Given the description of an element on the screen output the (x, y) to click on. 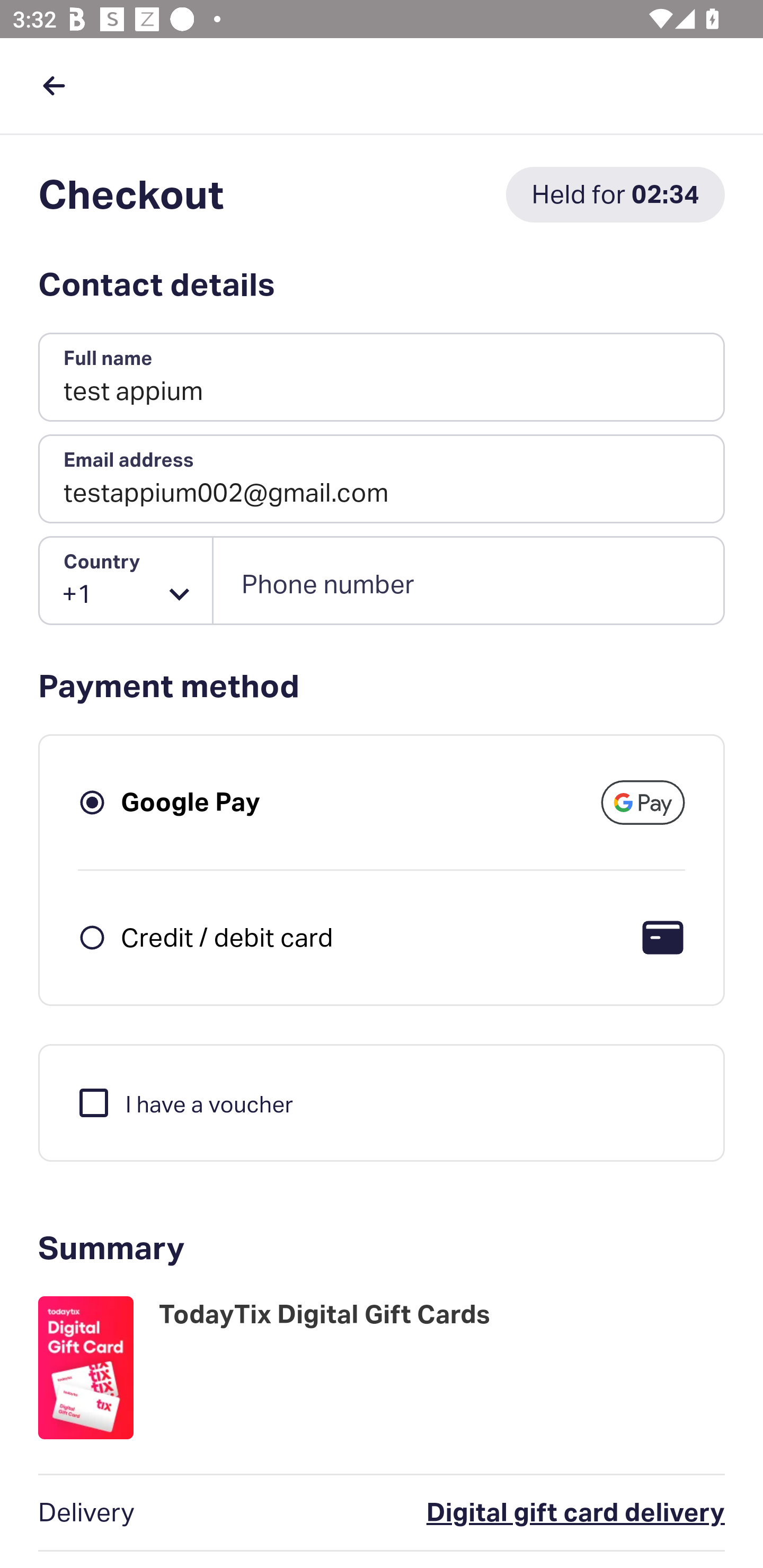
back button (53, 85)
test appium (381, 377)
testappium002@gmail.com (381, 478)
  +1 (126, 580)
Google Pay (190, 802)
Credit / debit card (227, 936)
I have a voucher (183, 1101)
Digital gift card delivery (495, 1512)
